Given the description of an element on the screen output the (x, y) to click on. 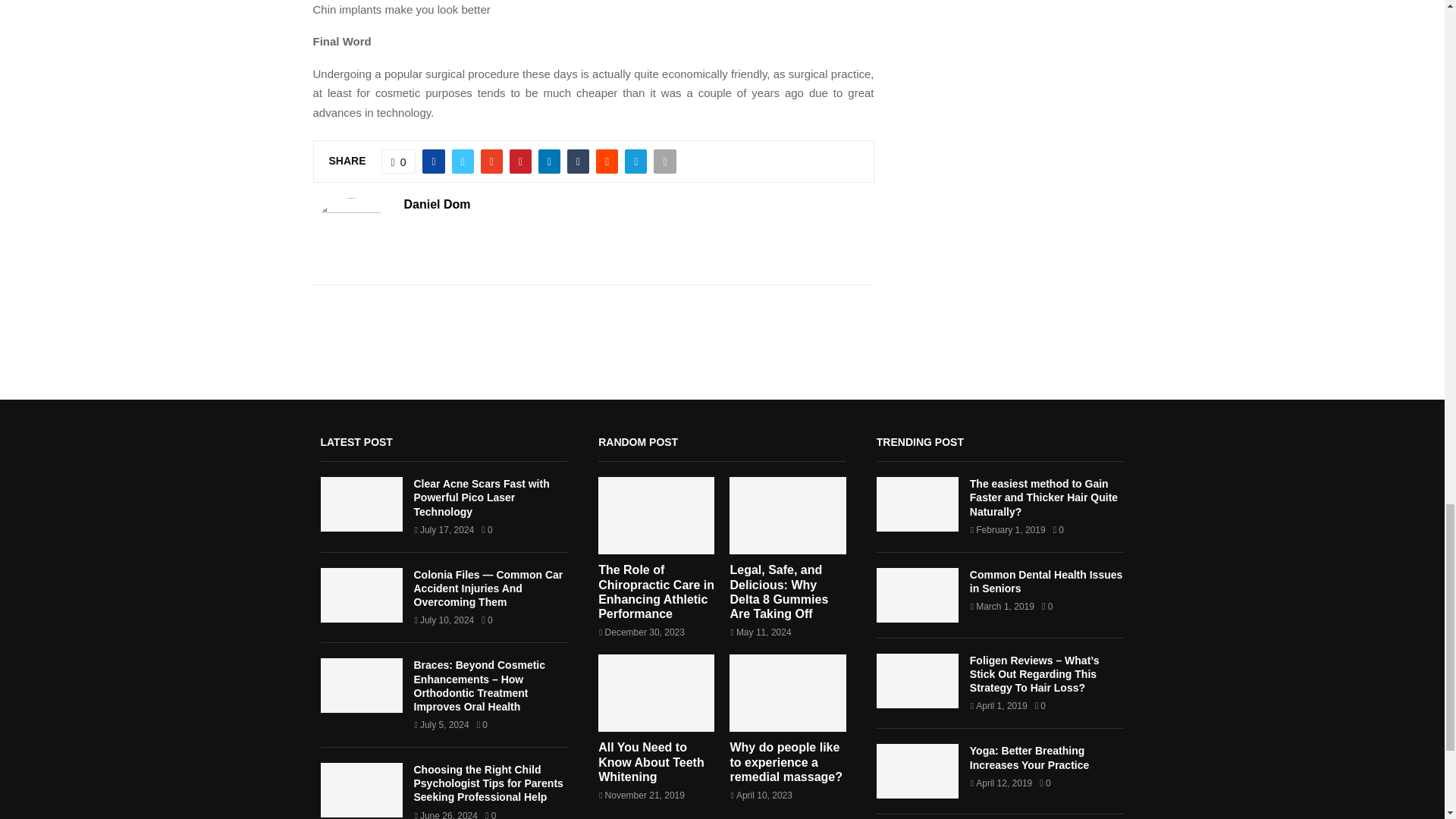
Daniel Dom (436, 204)
Like (398, 161)
0 (398, 161)
Posts by Daniel Dom (436, 204)
